Given the description of an element on the screen output the (x, y) to click on. 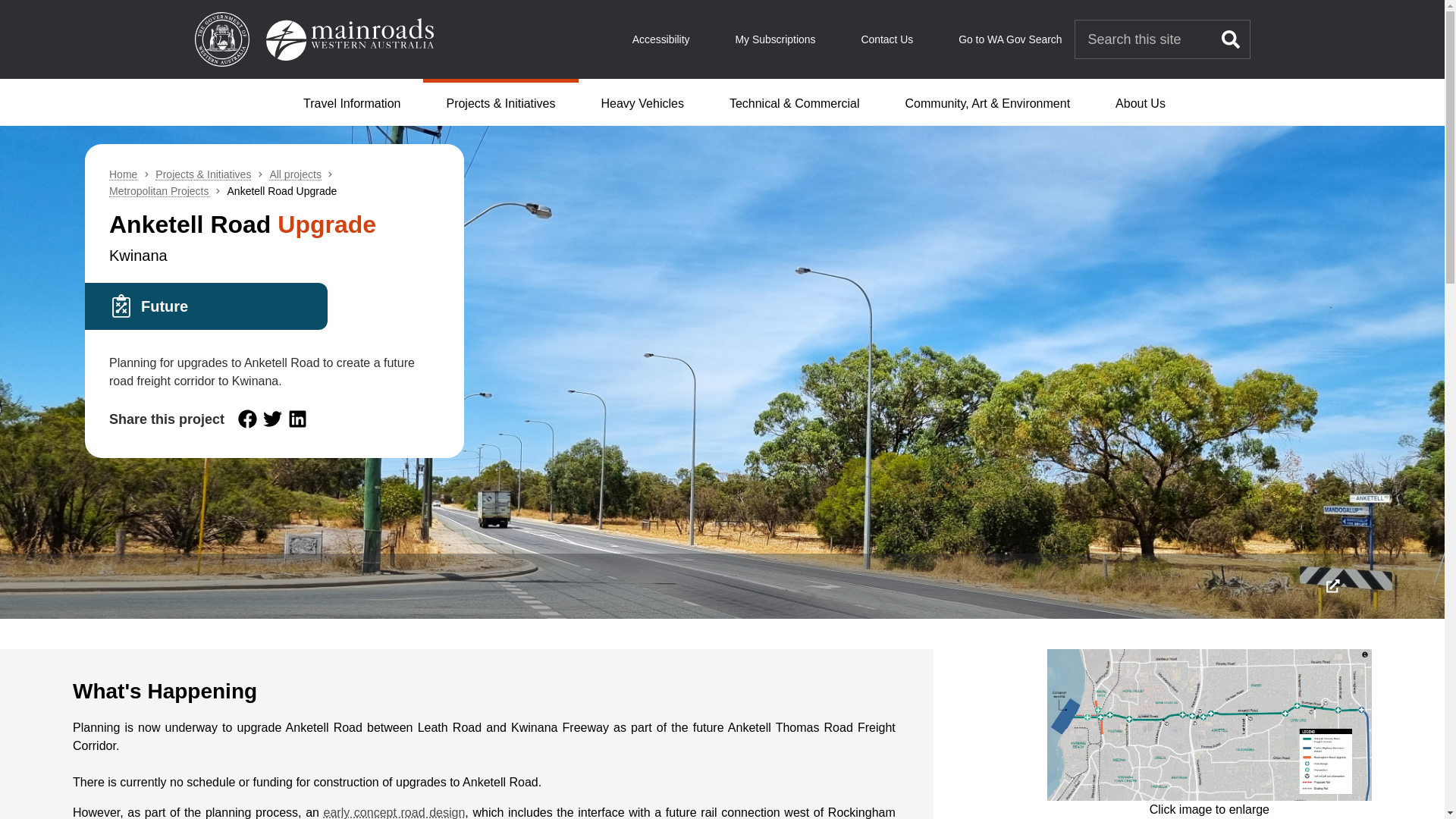
Open Map (1208, 724)
My Subscriptions (775, 39)
Travel Information (352, 101)
Metropolitan Projects (159, 191)
Skip to main content (722, 2)
Heavy Vehicles (642, 101)
Open Map  (394, 812)
Go to WA Gov Search (1009, 39)
All projects (294, 174)
About Us (1140, 101)
early concept road design (394, 812)
Home (122, 174)
Accessibility (660, 39)
Contact Us (886, 39)
Click to view image (1332, 586)
